Given the description of an element on the screen output the (x, y) to click on. 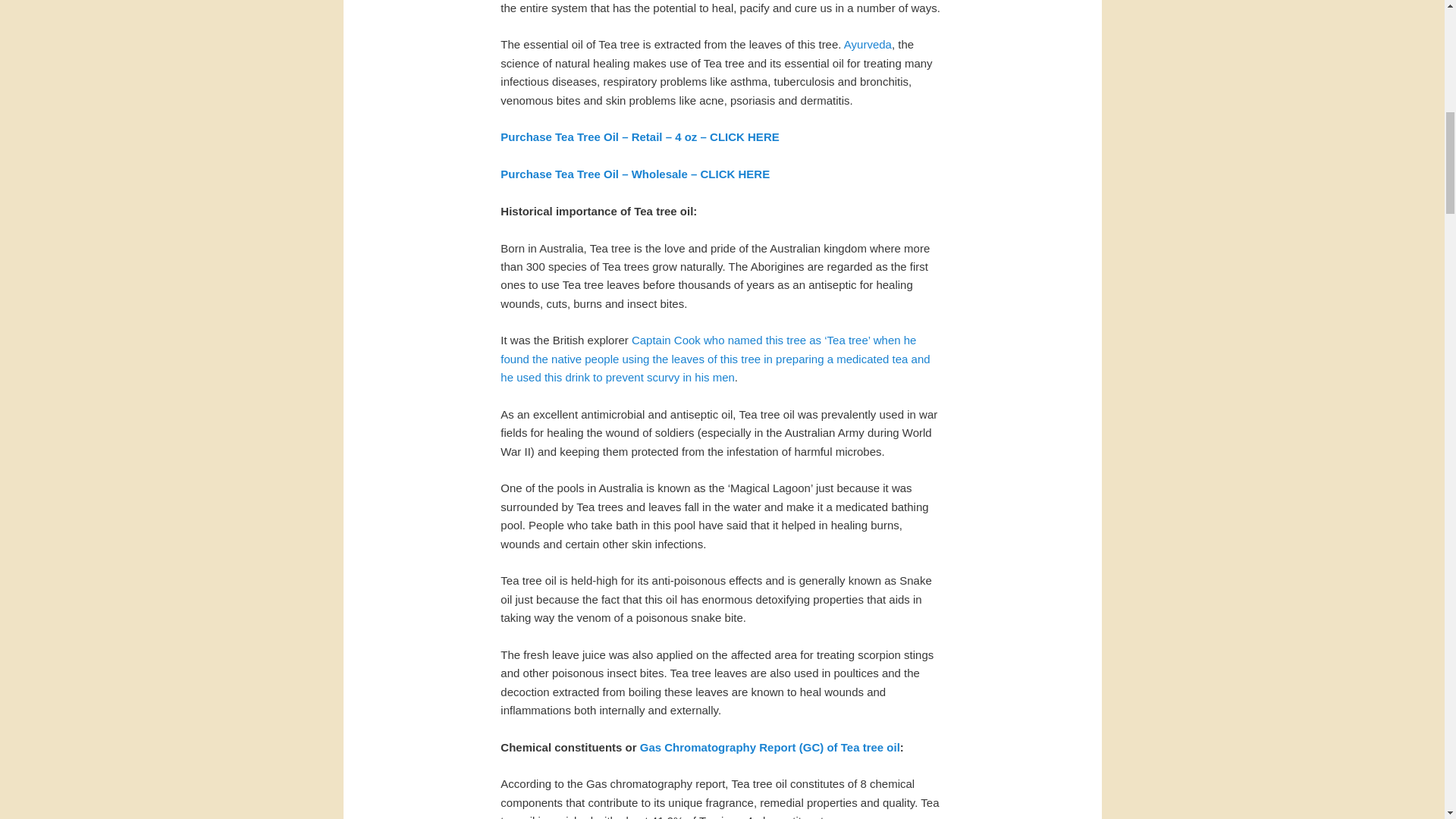
Purchase Tea Tree Oil - Wholesale (635, 173)
Ayurveda (867, 43)
Purchase Tea Tree Oil - Retail - 4oz (639, 136)
